Given the description of an element on the screen output the (x, y) to click on. 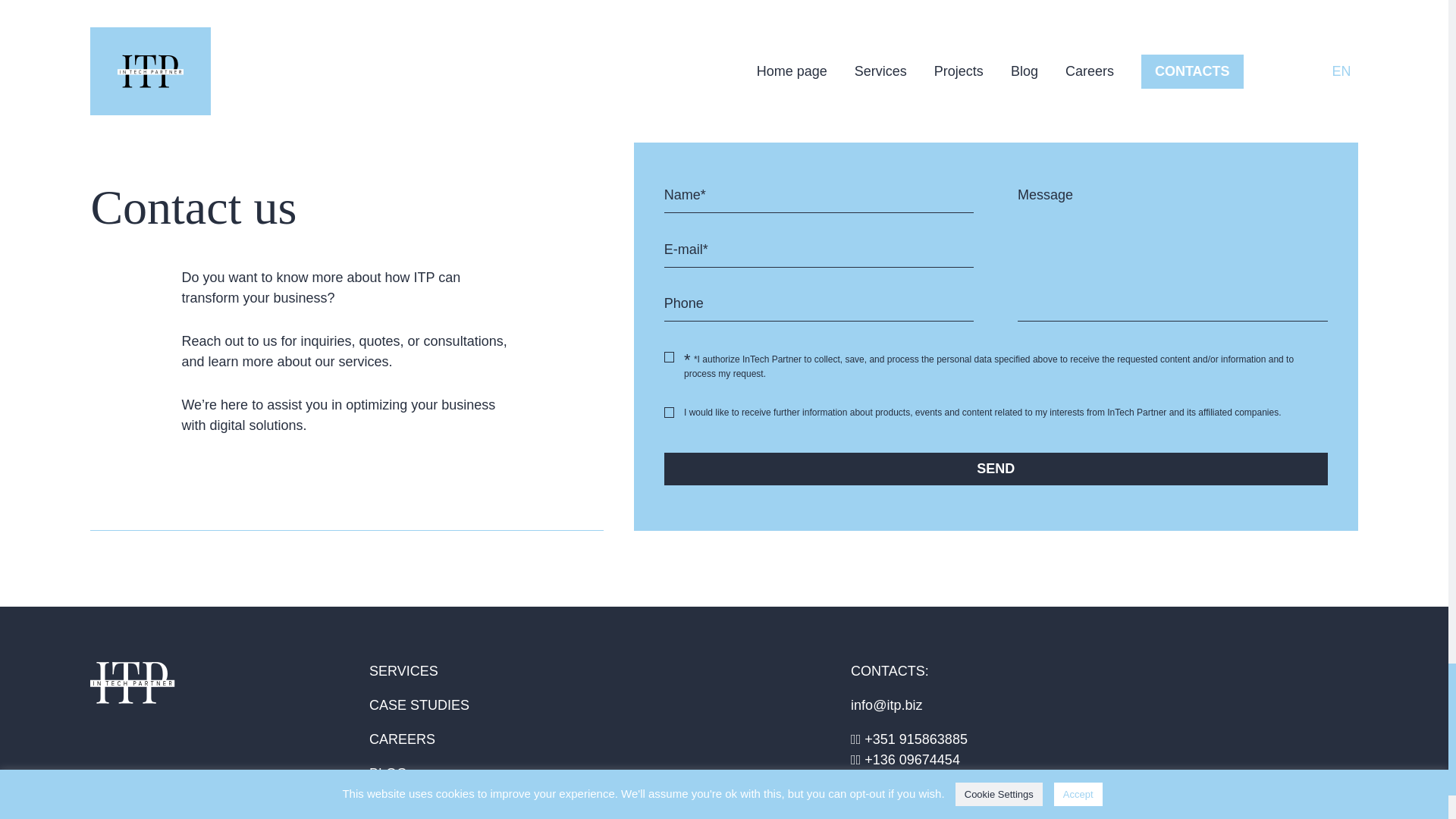
SERVICES (403, 670)
CASE STUDIES (418, 705)
Show all news (724, 39)
Send (995, 468)
FREE CONSULTATION (441, 807)
Send (995, 468)
BLOG (388, 773)
CAREERS (402, 739)
